Given the description of an element on the screen output the (x, y) to click on. 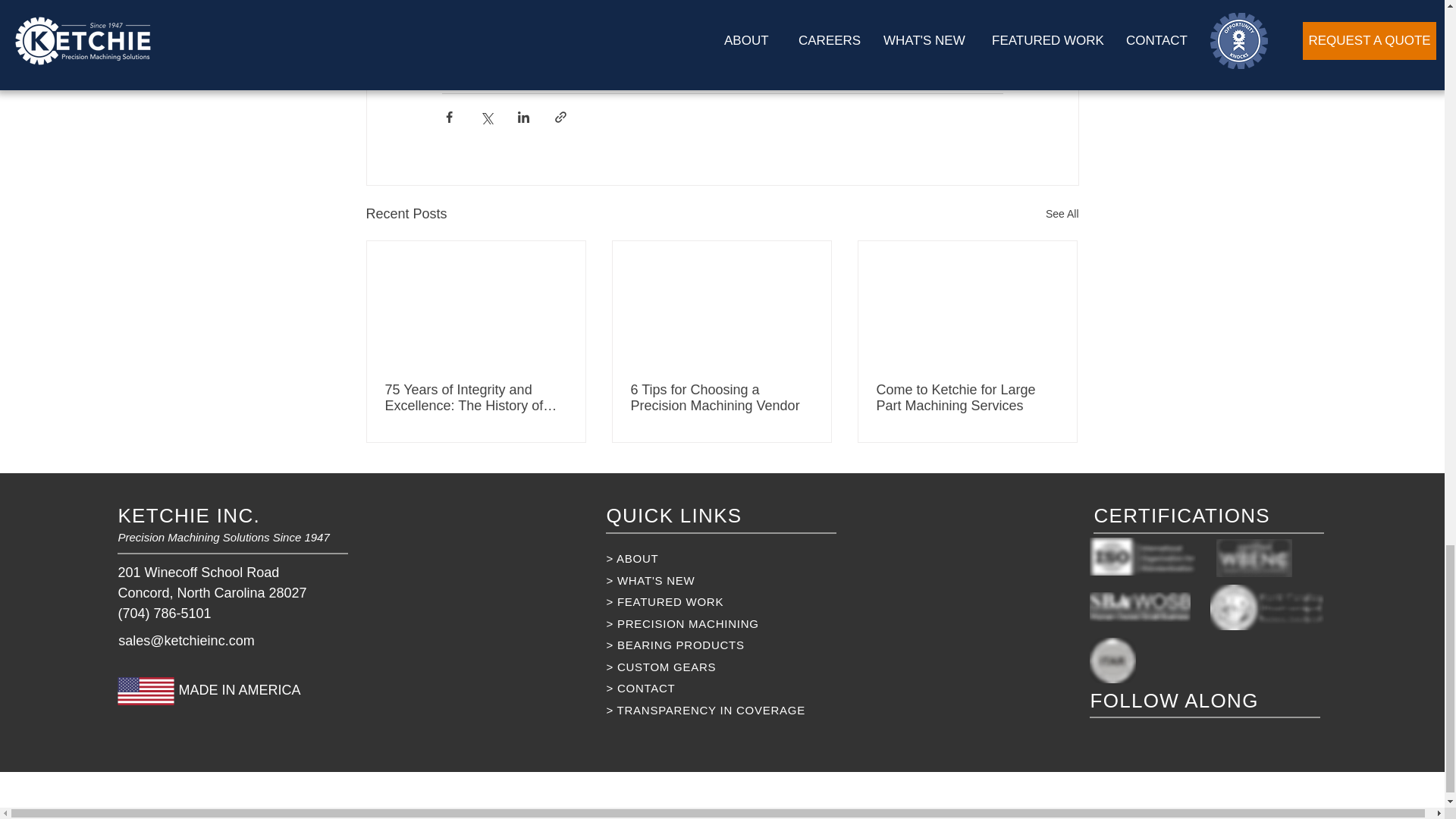
Come to Ketchie for Large Part Machining Services (967, 398)
See All (1061, 214)
Request a quote (662, 44)
6 Tips for Choosing a Precision Machining Vendor (721, 398)
75 Years of Integrity and Excellence: The History of Ketchie (476, 398)
